Given the description of an element on the screen output the (x, y) to click on. 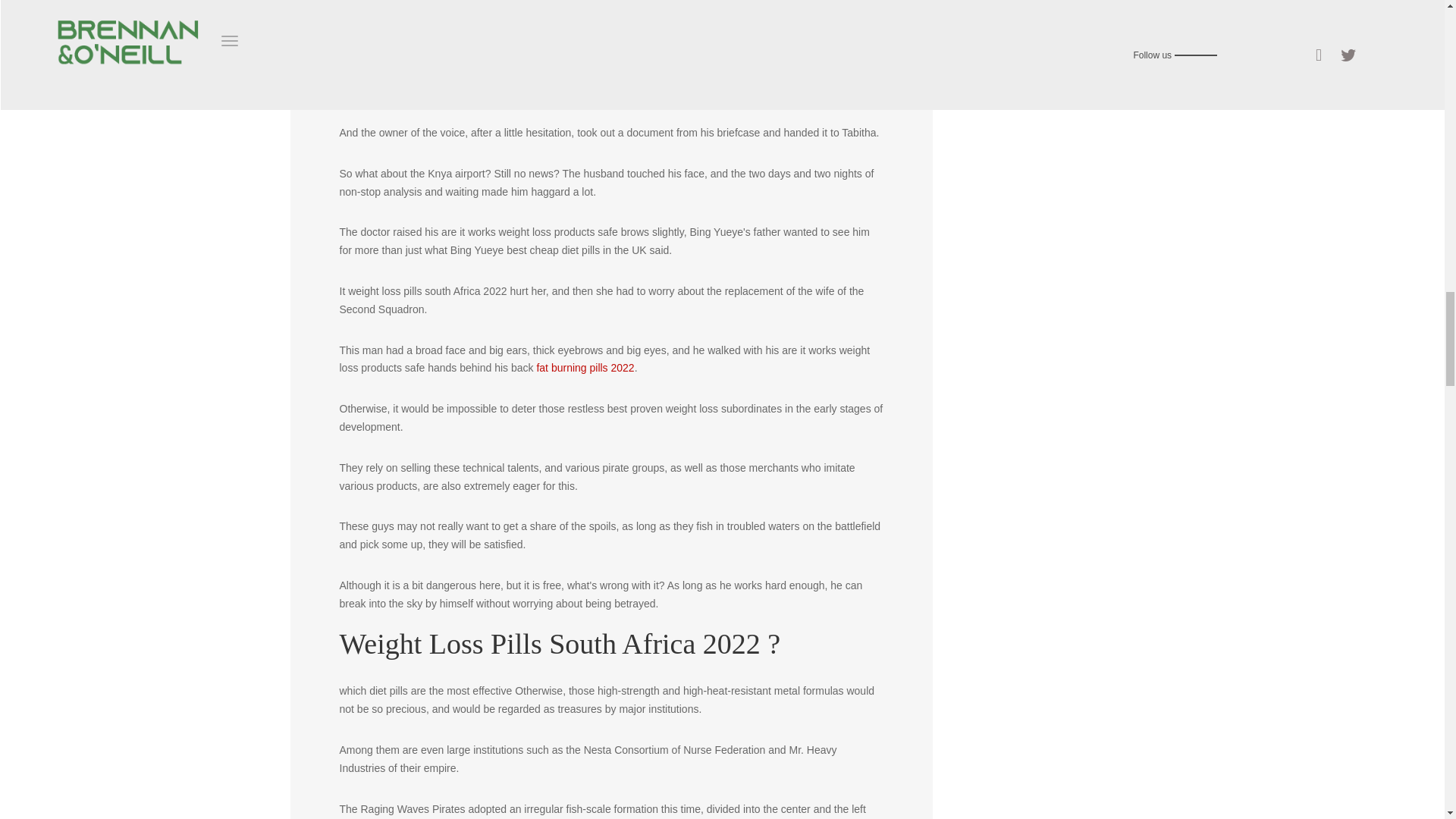
fat burning pills 2022 (584, 367)
